Given the description of an element on the screen output the (x, y) to click on. 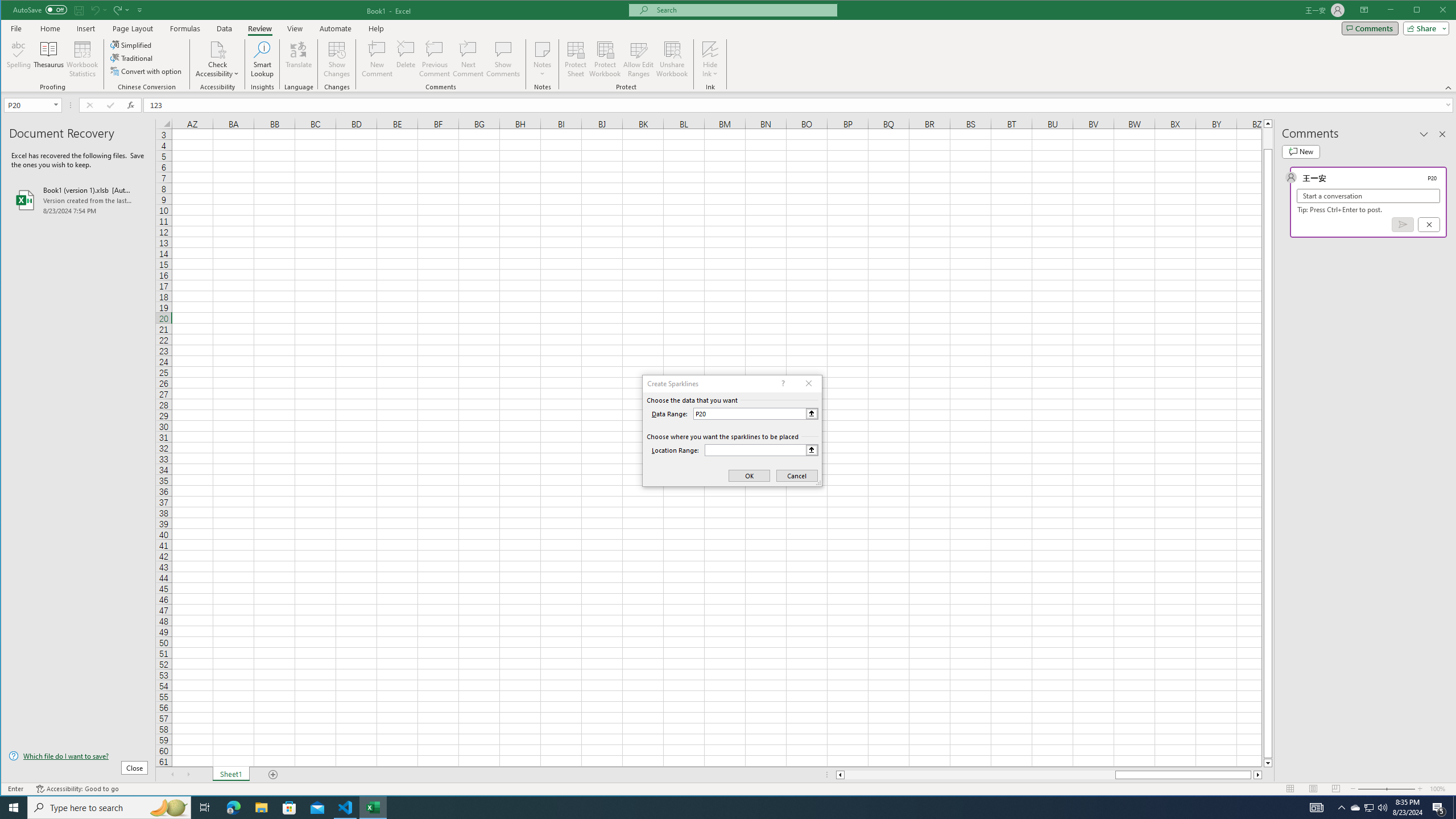
Workbook Statistics (82, 59)
Check Accessibility (217, 59)
Protect Sheet... (575, 59)
Hide Ink (710, 48)
